Given the description of an element on the screen output the (x, y) to click on. 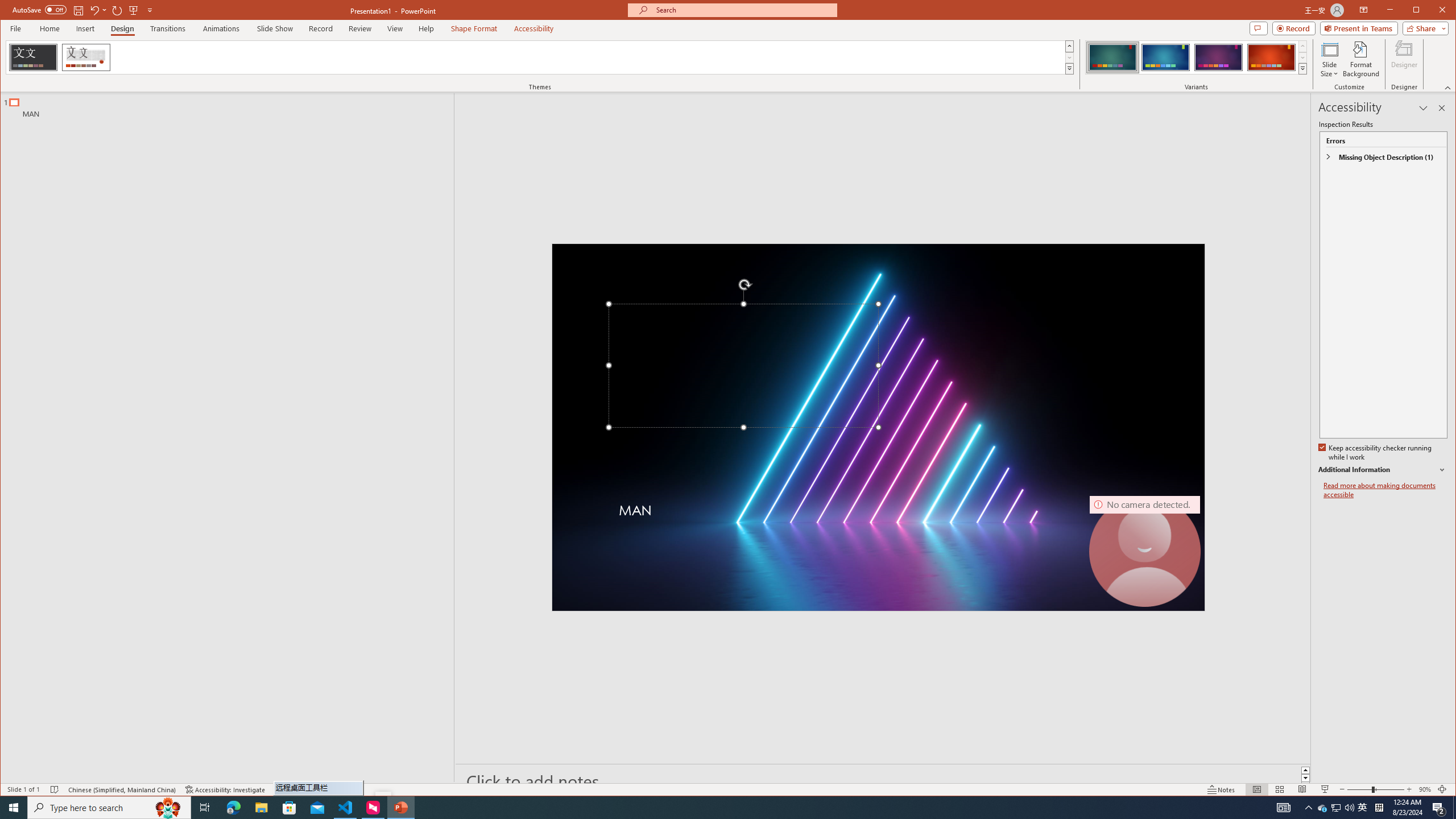
Variants (1302, 68)
Zoom 90% (1424, 789)
